Given the description of an element on the screen output the (x, y) to click on. 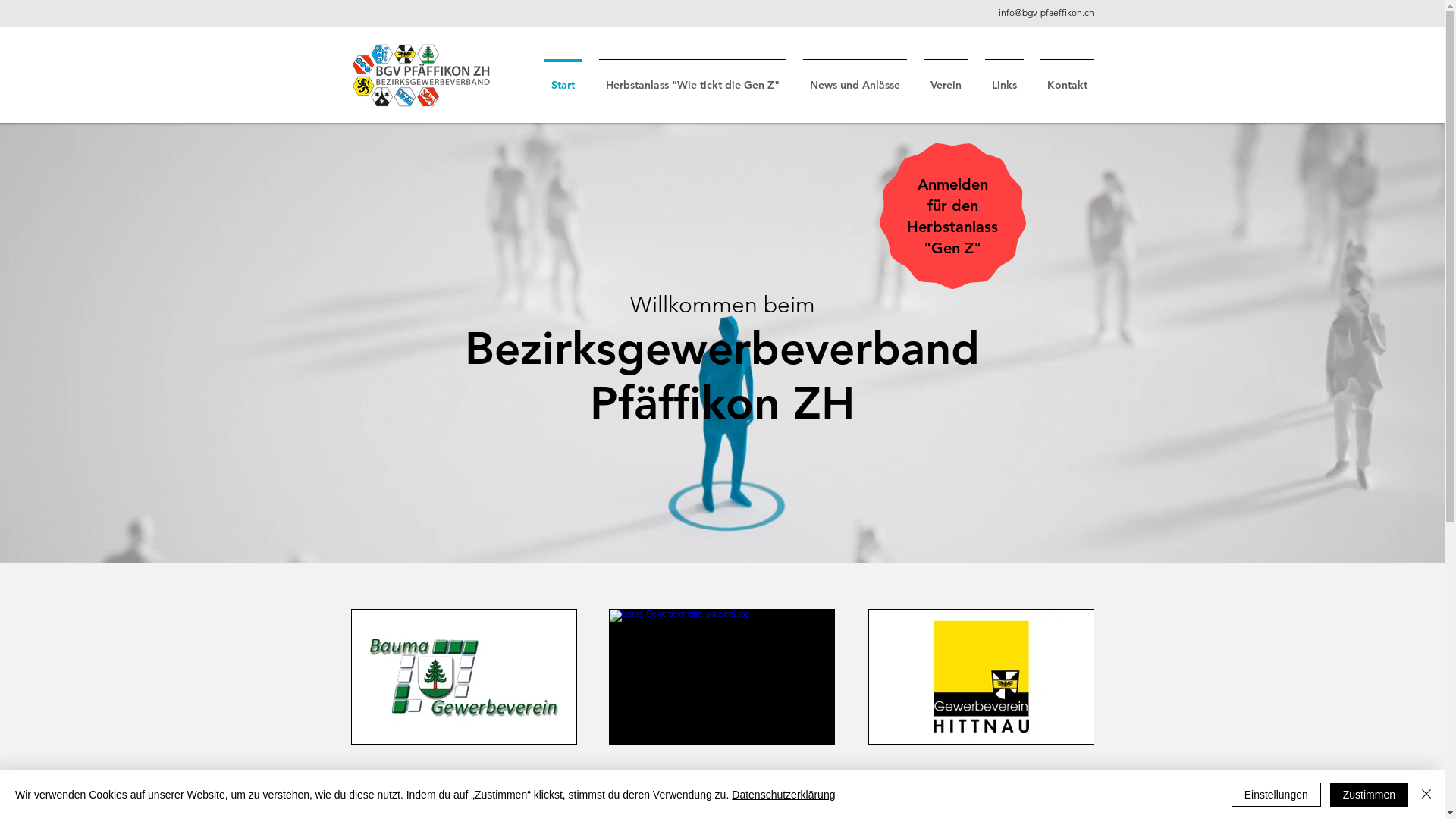
Zustimmen Element type: text (1369, 794)
Start Element type: text (562, 78)
info@bgv-pfaeffikon.ch Element type: text (1045, 12)
Kontakt Element type: text (1066, 78)
Links Element type: text (1004, 78)
Herbstanlass "Wie tickt die Gen Z" Element type: text (691, 78)
Einstellungen Element type: text (1276, 794)
Verein Element type: text (944, 78)
